Given the description of an element on the screen output the (x, y) to click on. 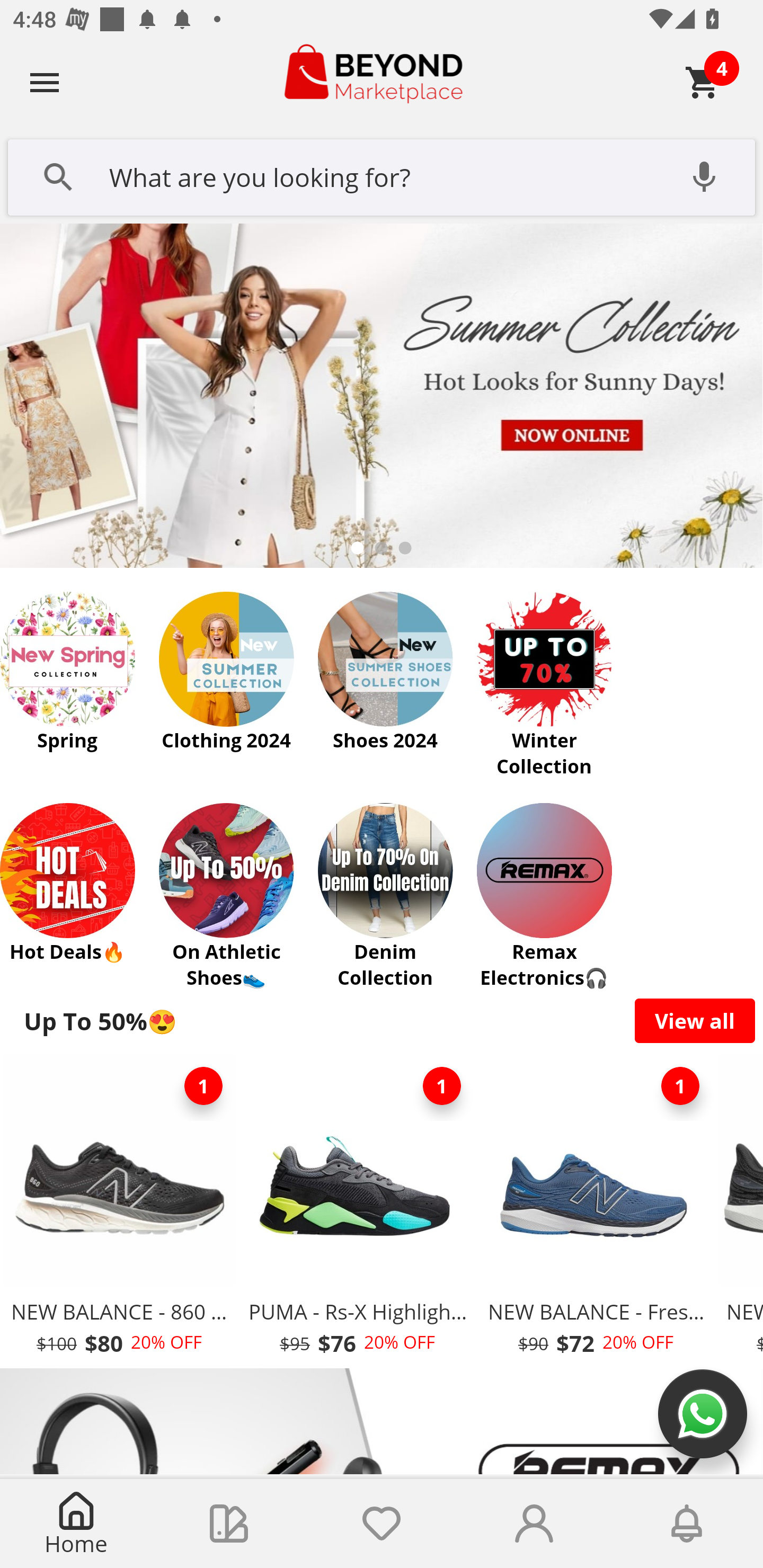
Navigate up (44, 82)
What are you looking for? (381, 175)
View all (694, 1020)
1 NEW BALANCE - 860 Running Shoes $100 $80 20% OFF (119, 1209)
1 (203, 1085)
1 (441, 1085)
1 (680, 1085)
Collections (228, 1523)
Wishlist (381, 1523)
Account (533, 1523)
Notifications (686, 1523)
